Given the description of an element on the screen output the (x, y) to click on. 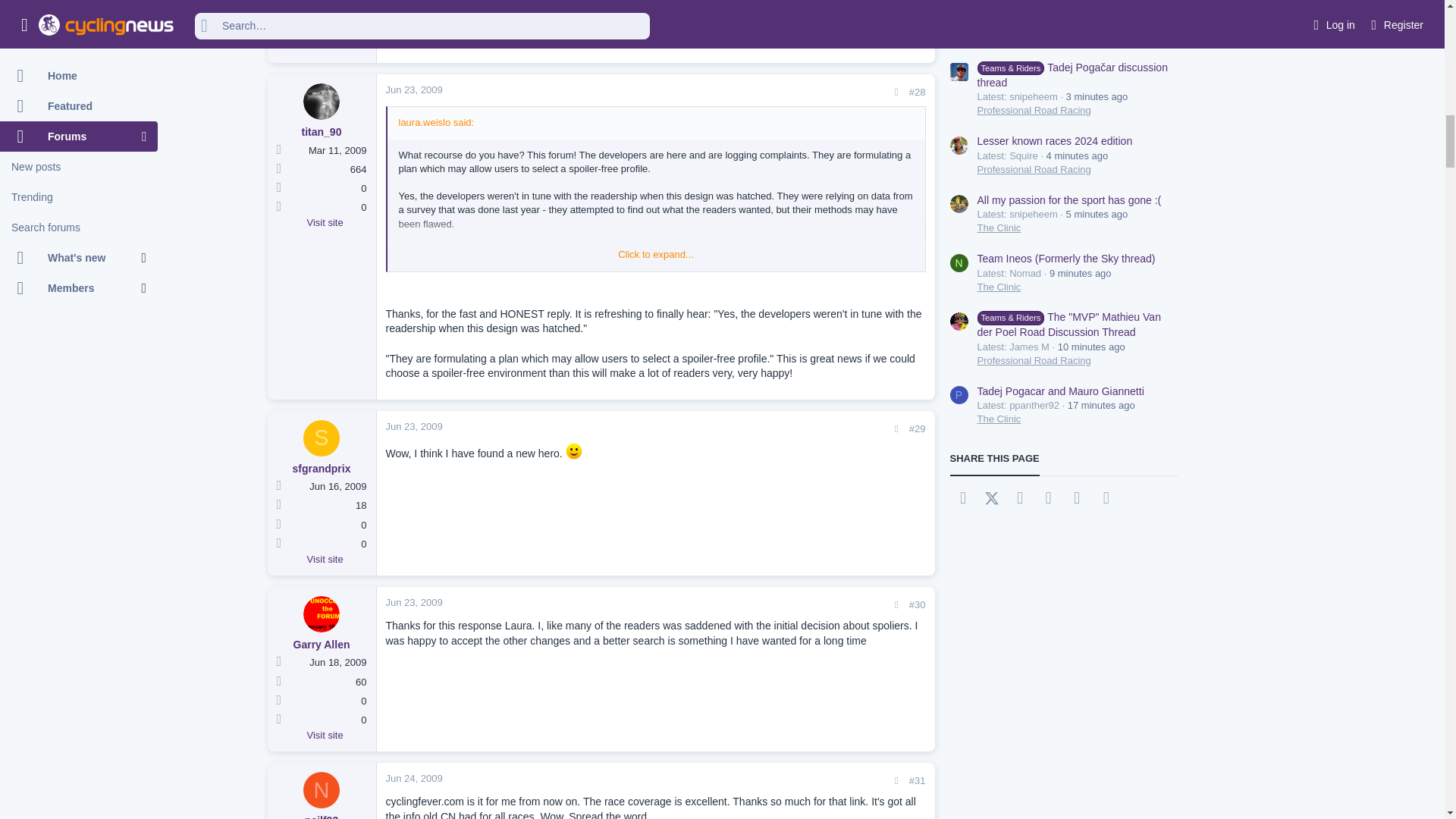
Jun 23, 2009 at 7:38 PM (413, 426)
Jun 23, 2009 at 6:52 PM (413, 89)
Jun 24, 2009 at 12:11 AM (413, 778)
Jun 23, 2009 at 11:37 PM (413, 602)
